Given the description of an element on the screen output the (x, y) to click on. 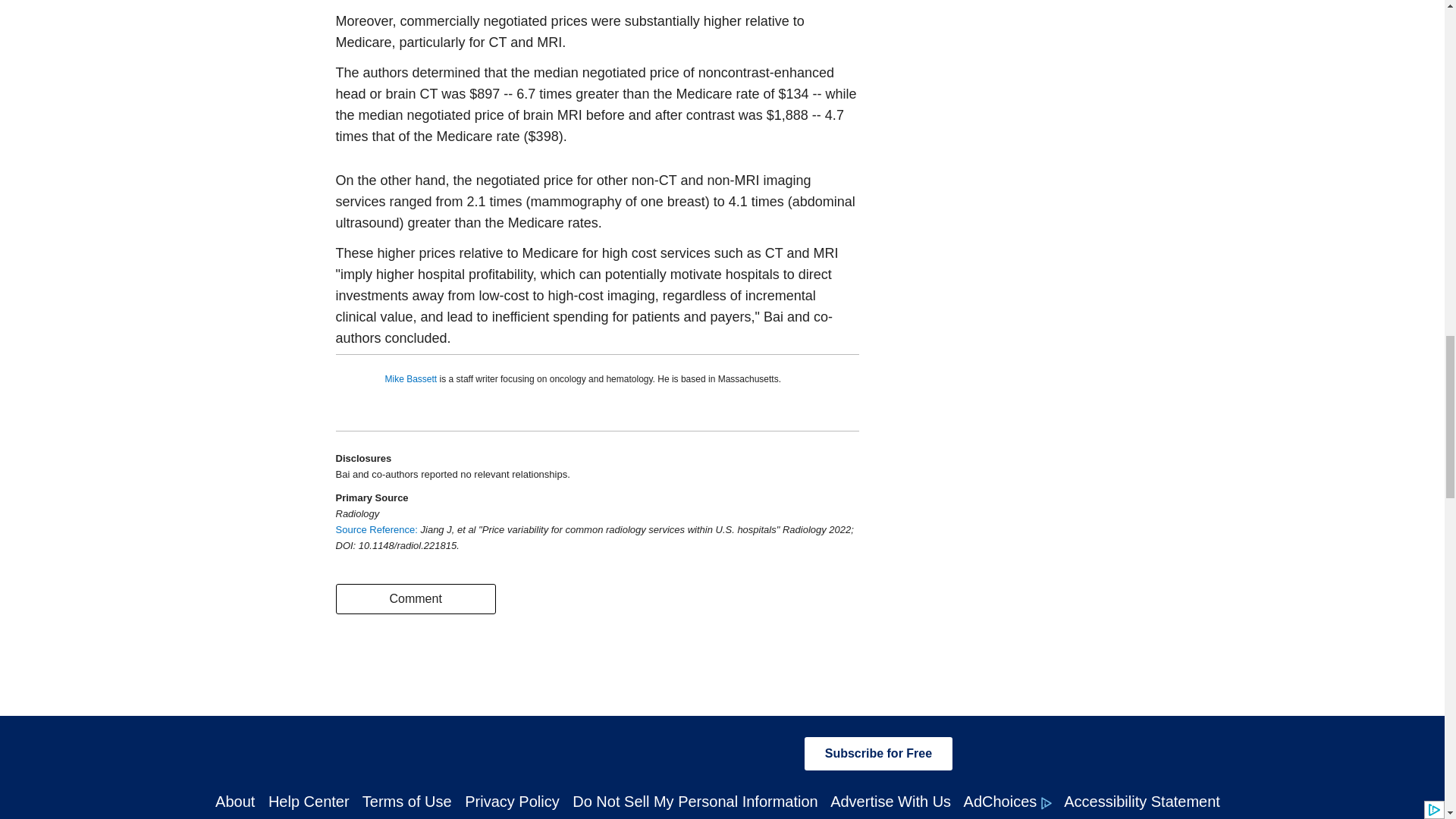
Visit us on YouTube. Opens in a new tab or window (773, 751)
Opens in a new tab or window (377, 529)
Visit us on X. Opens in a new tab or window (562, 751)
Visit us on LinkedIn. Opens in a new tab or window (668, 751)
Visit us on Instagram. Opens in a new tab or window (614, 751)
Visit us on TikTok. Opens in a new tab or window (721, 751)
Visit us on Facebook. Opens in a new tab or window (510, 751)
